Given the description of an element on the screen output the (x, y) to click on. 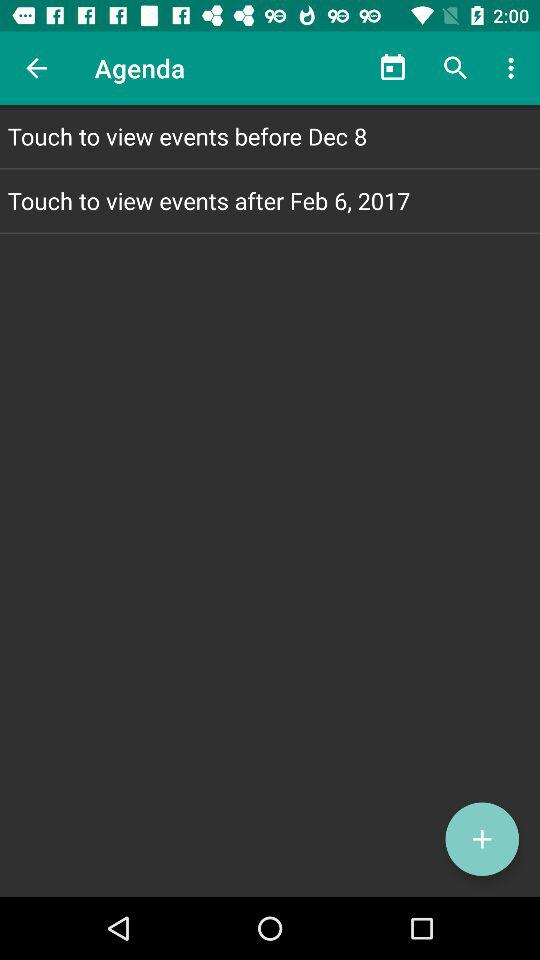
click the item above touch to view item (36, 68)
